Given the description of an element on the screen output the (x, y) to click on. 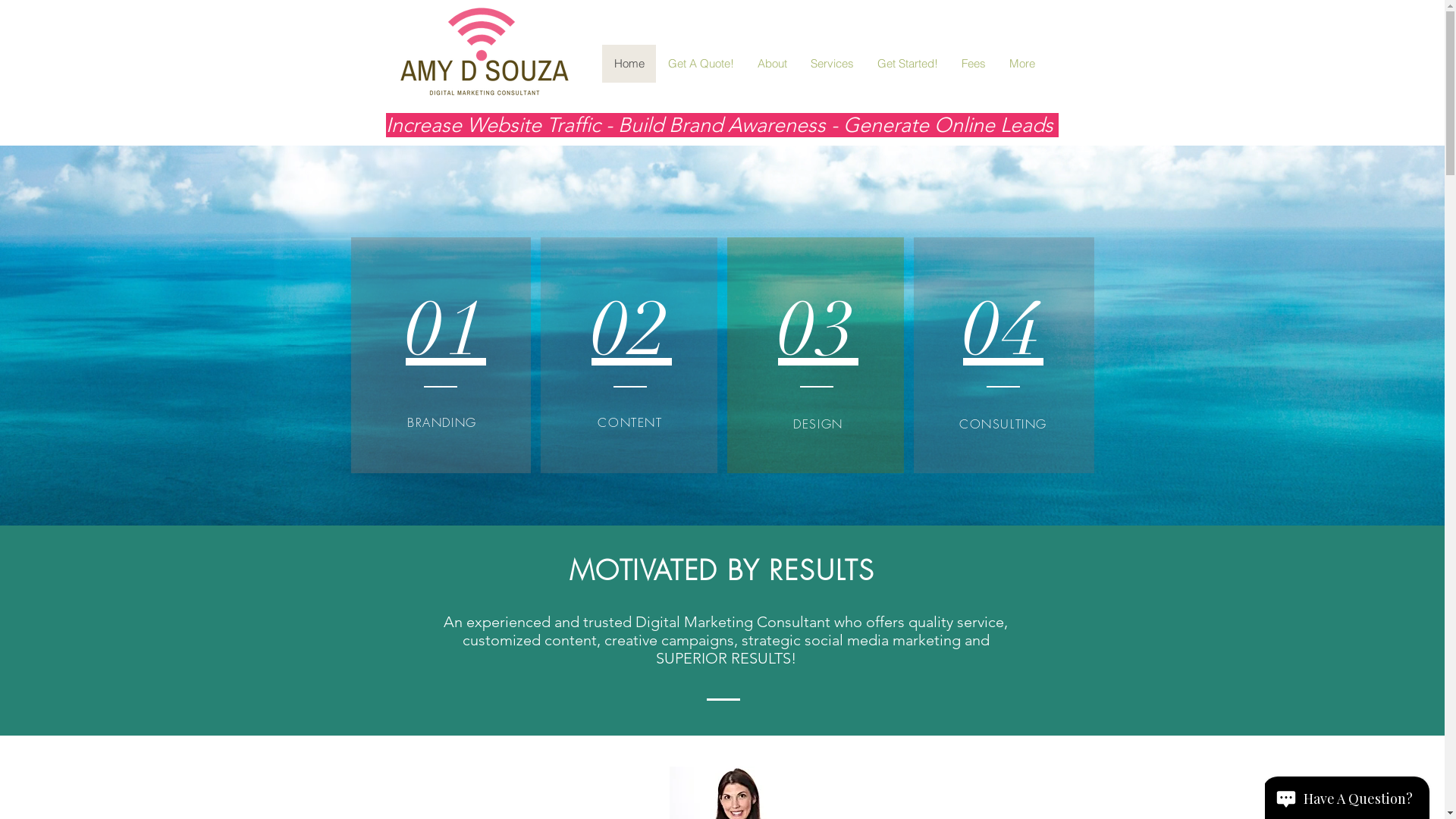
02 Element type: text (631, 322)
Get Started! Element type: text (906, 63)
03 Element type: text (818, 322)
Fees Element type: text (973, 63)
Embedded Content Element type: hover (458, 769)
Get A Quote! Element type: text (699, 63)
TWIPLA (Visitor Analytics) Element type: hover (1442, 4)
Home Element type: text (628, 63)
About Element type: text (770, 63)
01 Element type: text (445, 322)
Services Element type: text (830, 63)
04 Element type: text (1003, 322)
